Given the description of an element on the screen output the (x, y) to click on. 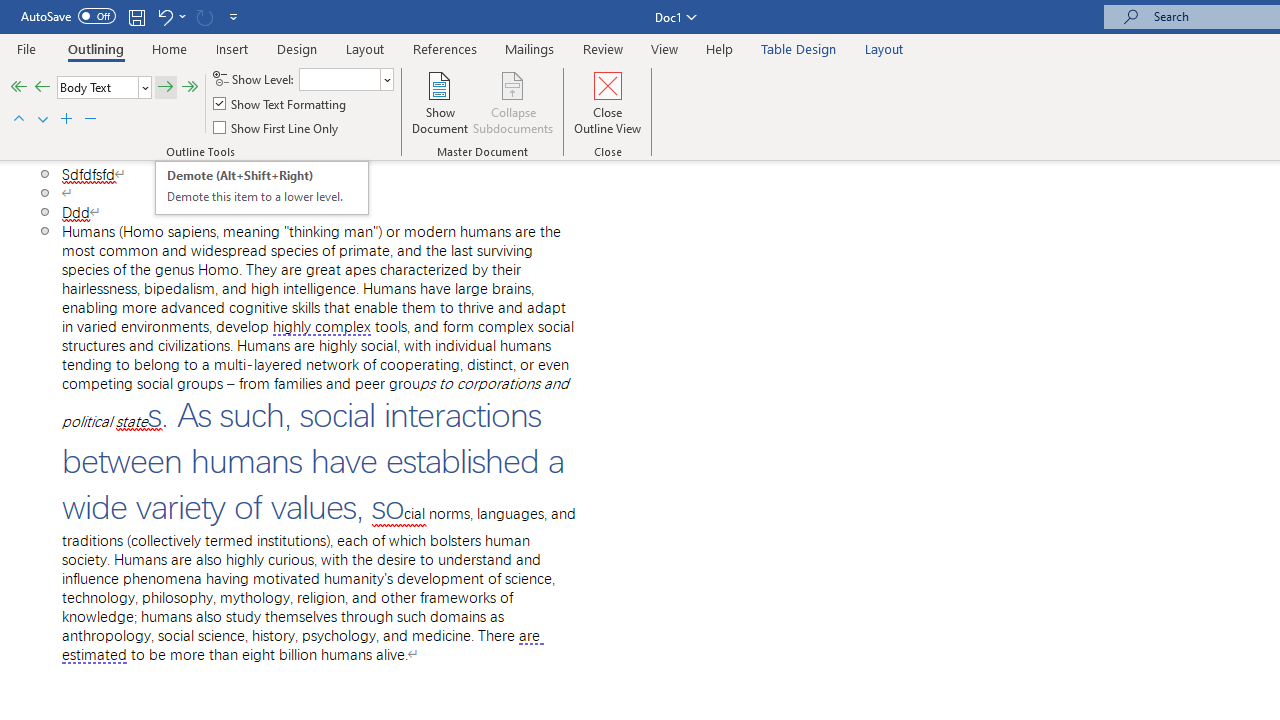
Undo Row Height Spinner (170, 15)
Move Up (18, 119)
Show Level (346, 78)
Promote to Heading 1 (18, 87)
Can't Repeat (204, 15)
Outlining (95, 48)
